Given the description of an element on the screen output the (x, y) to click on. 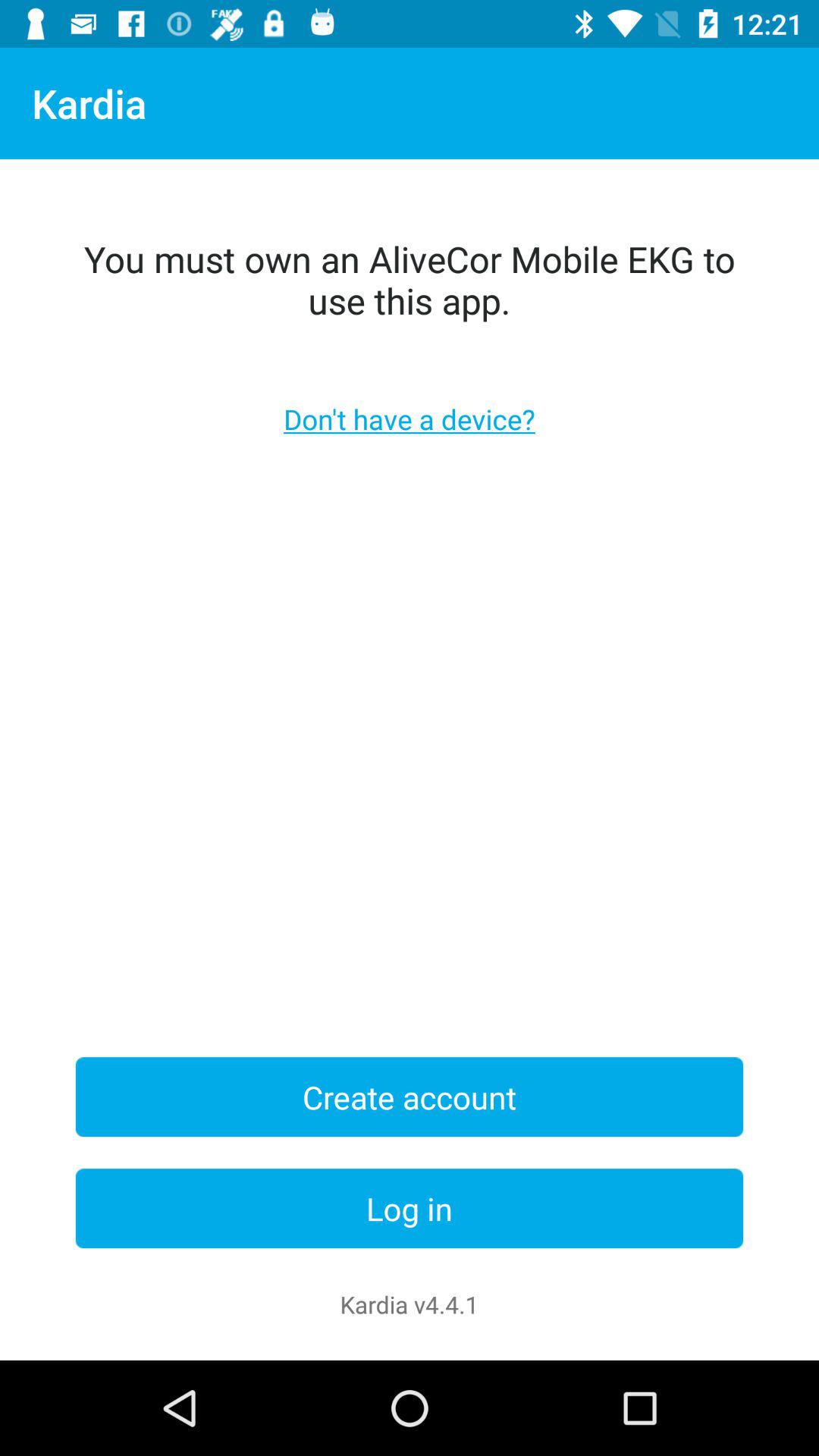
open don t have (409, 418)
